Given the description of an element on the screen output the (x, y) to click on. 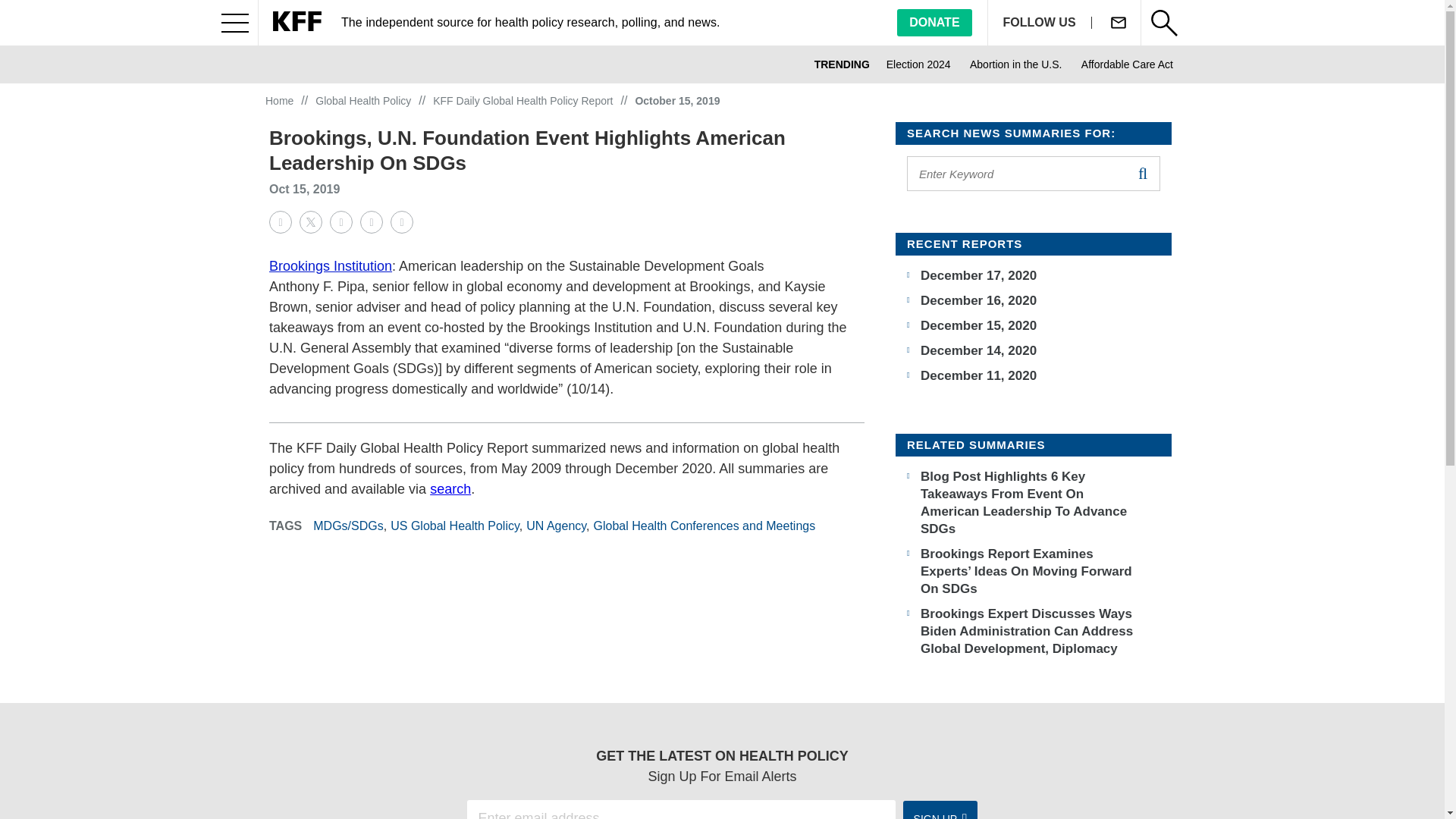
search (1141, 173)
